Given the description of an element on the screen output the (x, y) to click on. 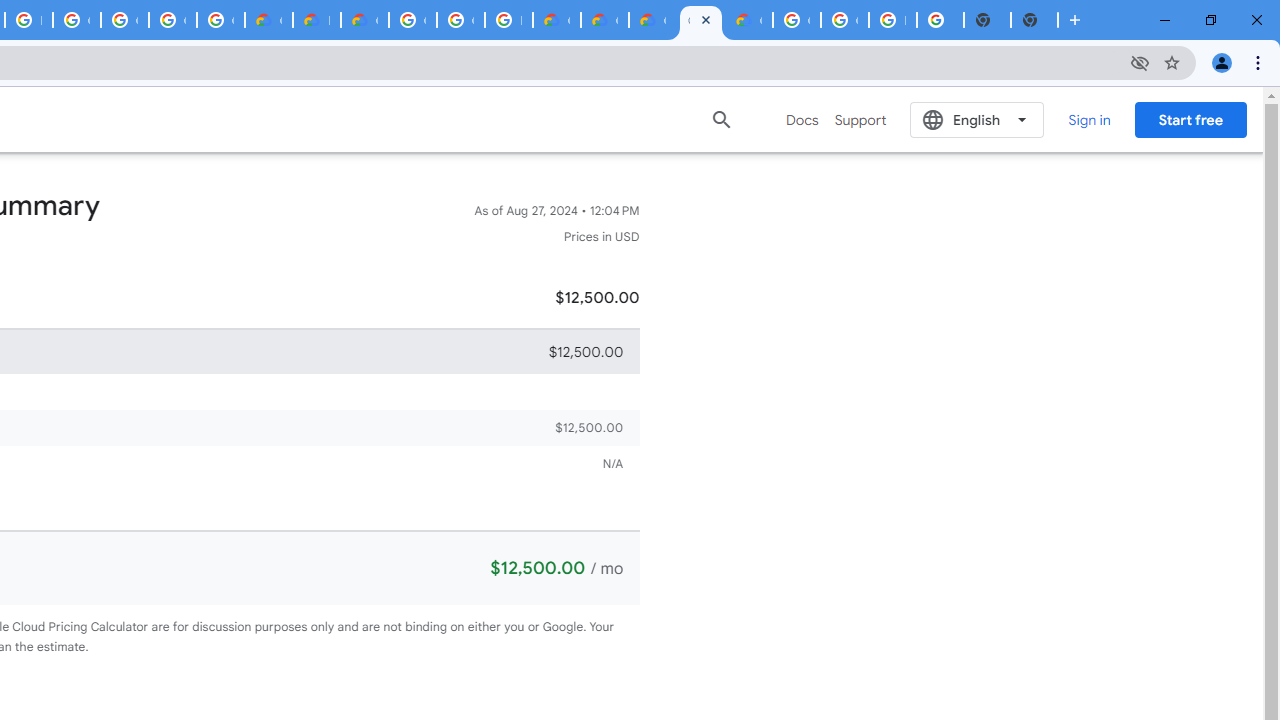
Google Cloud Estimate Summary (652, 20)
Google Cloud Platform (460, 20)
Google Cloud Service Health (748, 20)
Google Cloud Platform (412, 20)
Customer Care | Google Cloud (268, 20)
Google Cloud Platform (844, 20)
Gemini for Business and Developers | Google Cloud (364, 20)
Google Workspace - Specific Terms (172, 20)
Google Cloud Estimate Summary (700, 20)
